Given the description of an element on the screen output the (x, y) to click on. 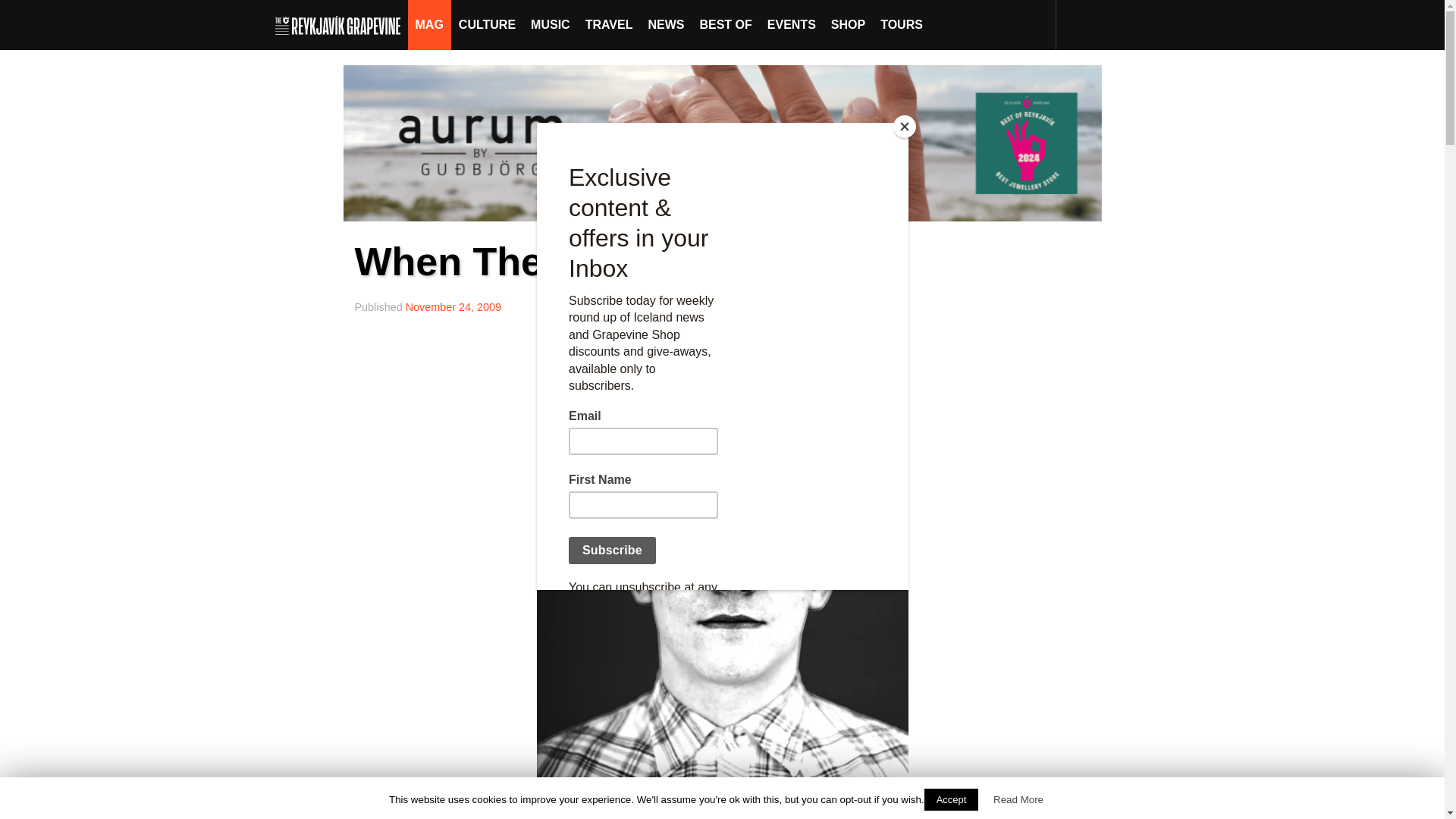
NEWS (665, 24)
TOURS (901, 24)
TRAVEL (609, 24)
SHOP (848, 24)
CULTURE (486, 24)
MUSIC (550, 24)
BEST OF (724, 24)
The Reykjavik Grapevine (341, 24)
EVENTS (792, 24)
